Given the description of an element on the screen output the (x, y) to click on. 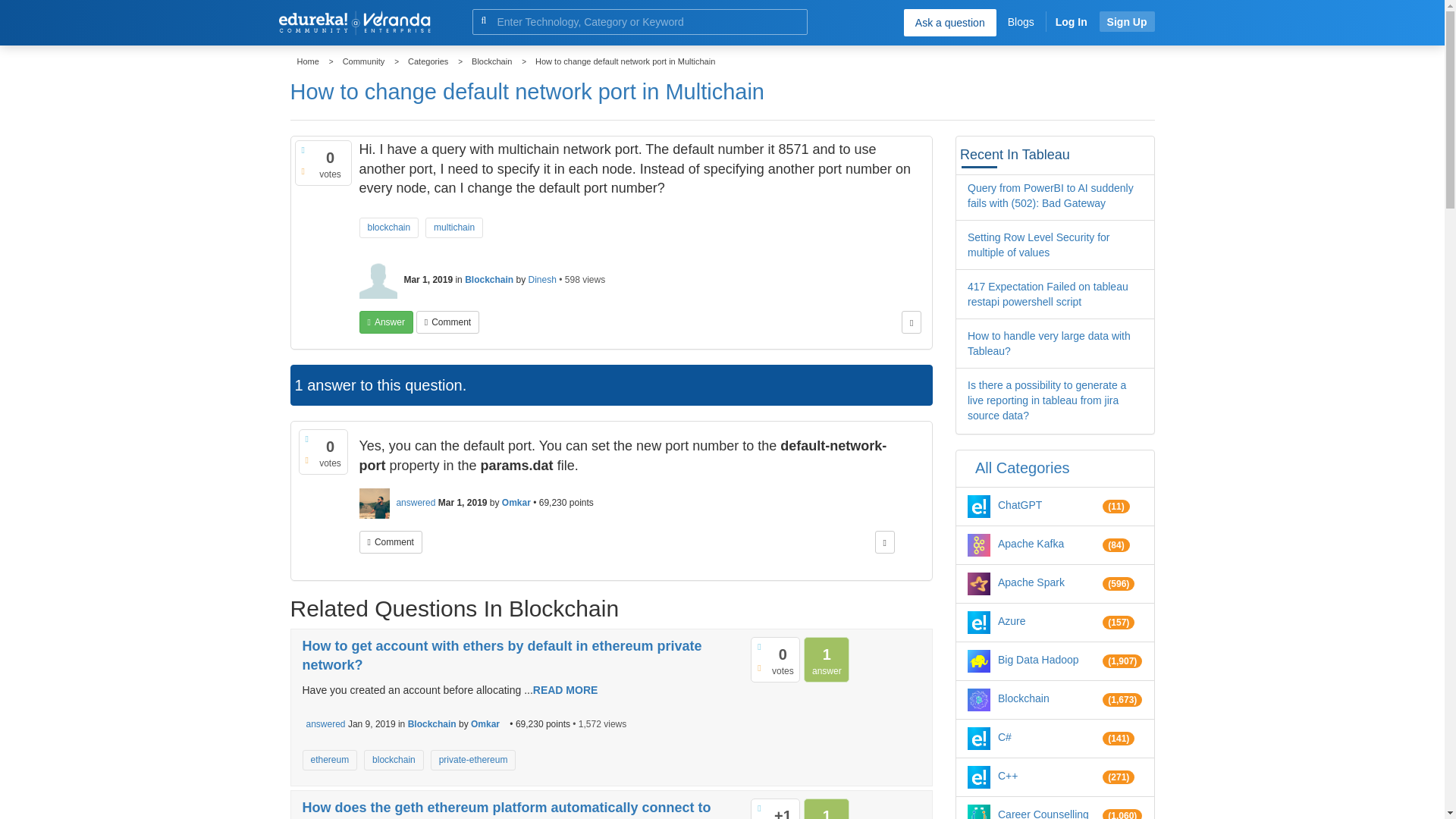
Ask a question (949, 22)
Blogs (1020, 21)
